Given the description of an element on the screen output the (x, y) to click on. 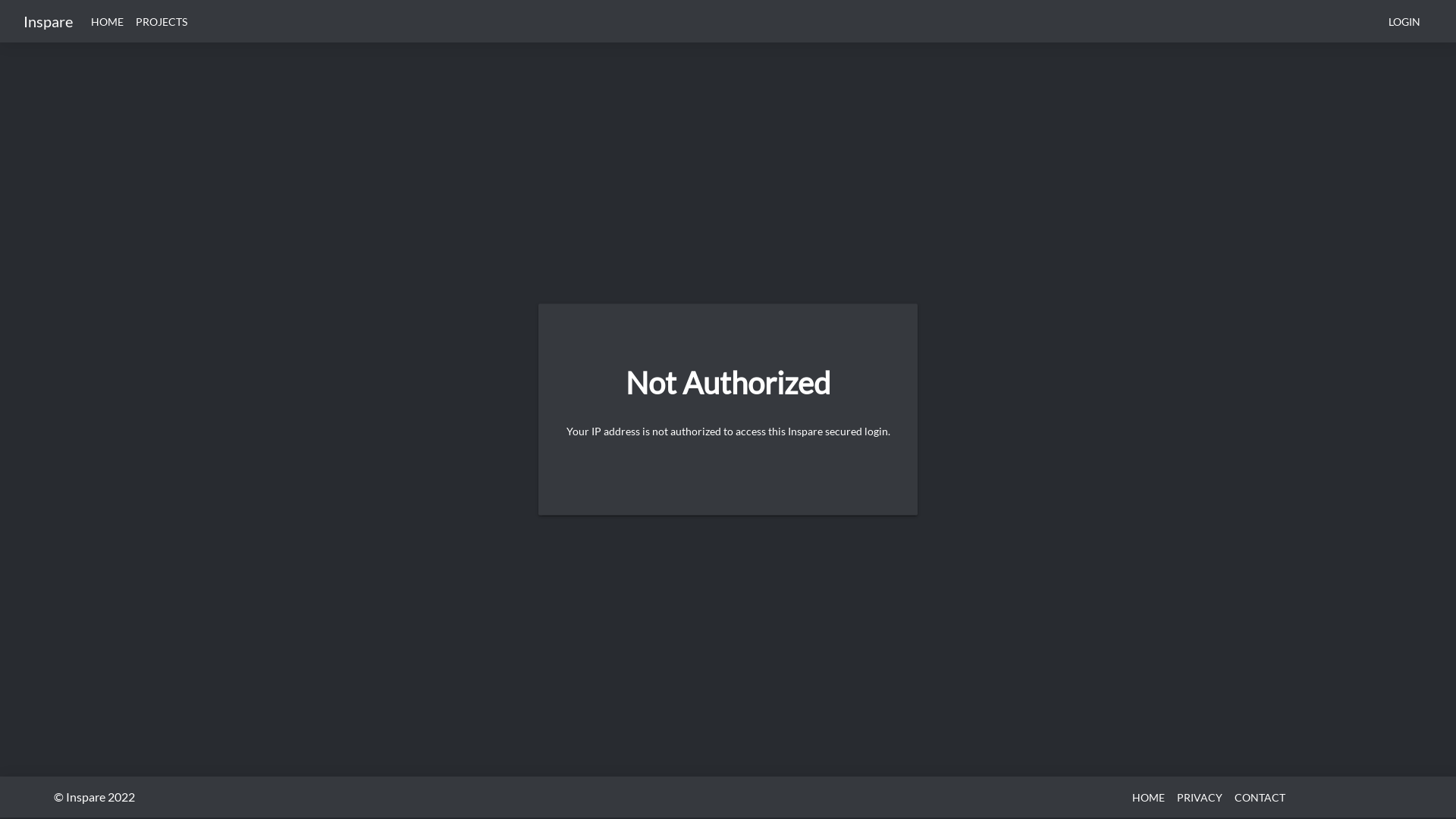
PRIVACY Element type: text (1199, 796)
LOGIN Element type: text (1404, 21)
HOME Element type: text (106, 20)
LOGIN Element type: text (1404, 20)
Inspare Element type: text (47, 21)
CONTACT Element type: text (1259, 796)
HOME Element type: text (1148, 796)
PROJECTS Element type: text (161, 20)
